Given the description of an element on the screen output the (x, y) to click on. 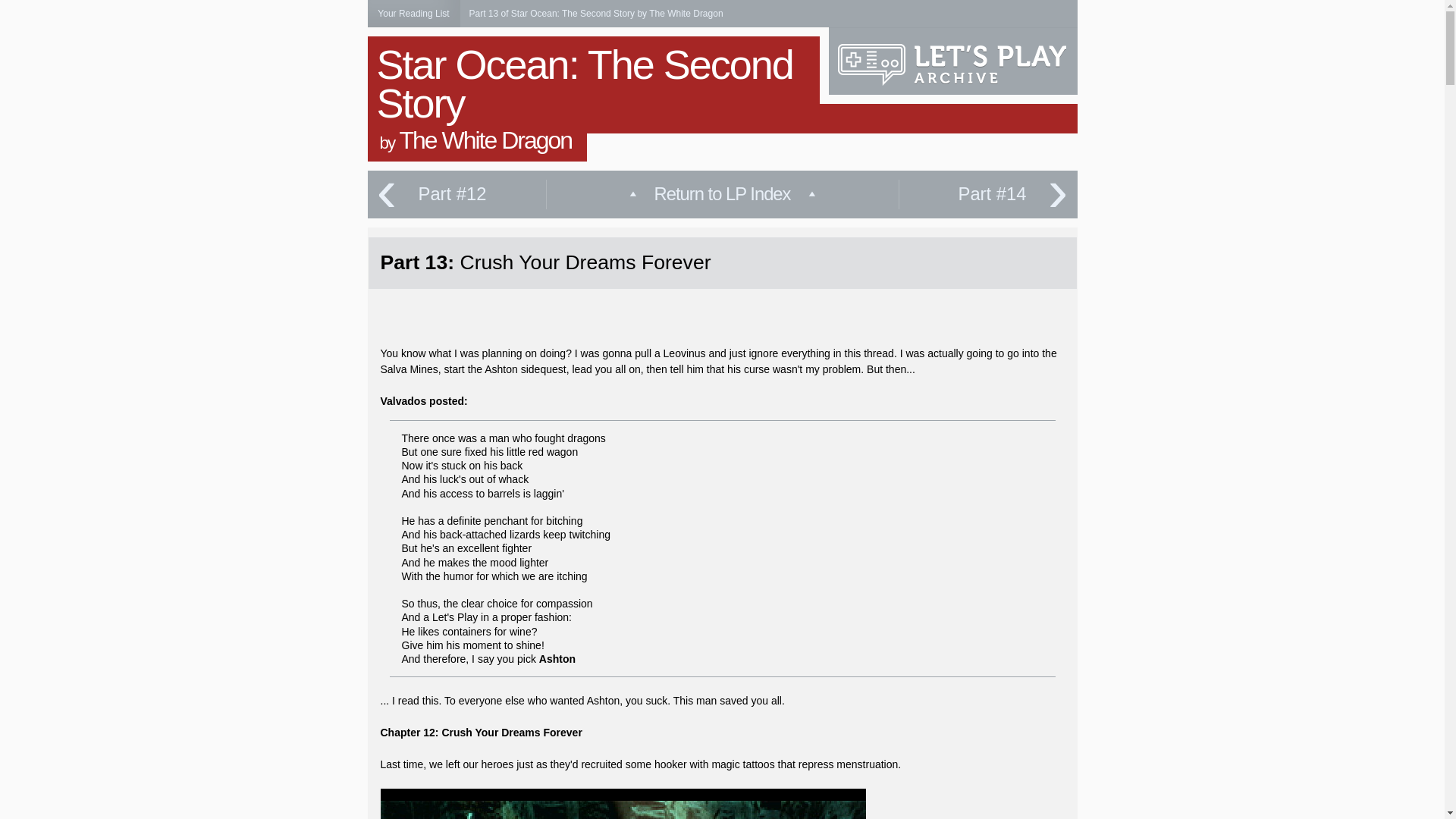
Click to expand and view your full reading list (413, 13)
Part 13 of Star Ocean: The Second Story by The White Dragon (595, 13)
The White Dragon (485, 139)
